Given the description of an element on the screen output the (x, y) to click on. 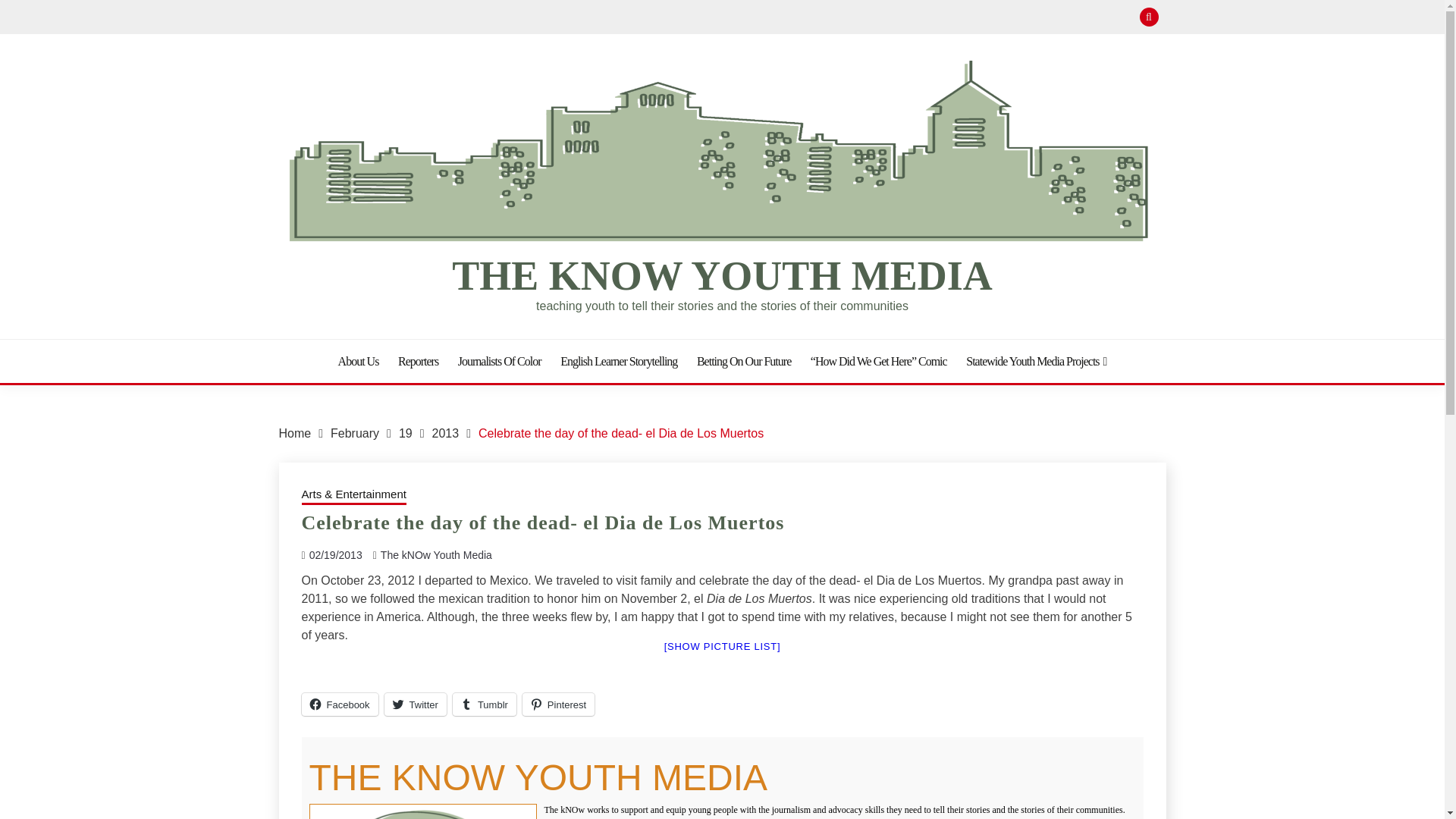
Journalists Of Color (499, 361)
Statewide Youth Media Projects (1036, 361)
About Us (357, 361)
Celebrate the day of the dead- el Dia de Los Muertos (620, 432)
THE KNOW YOUTH MEDIA (721, 275)
Home (295, 432)
English Learner Storytelling (618, 361)
February (354, 432)
19 (405, 432)
Betting On Our Future (743, 361)
